Given the description of an element on the screen output the (x, y) to click on. 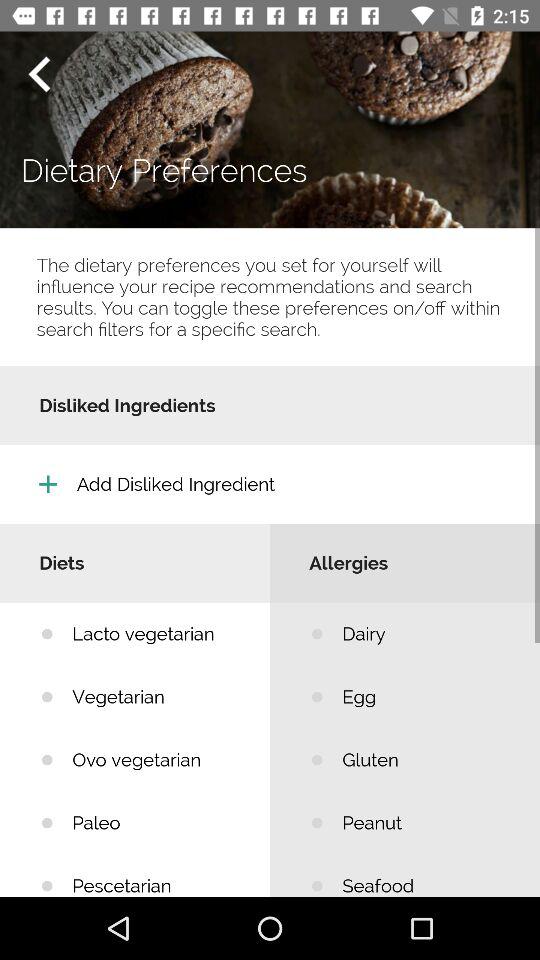
turn on item to the right of the vegetarian item (426, 759)
